Given the description of an element on the screen output the (x, y) to click on. 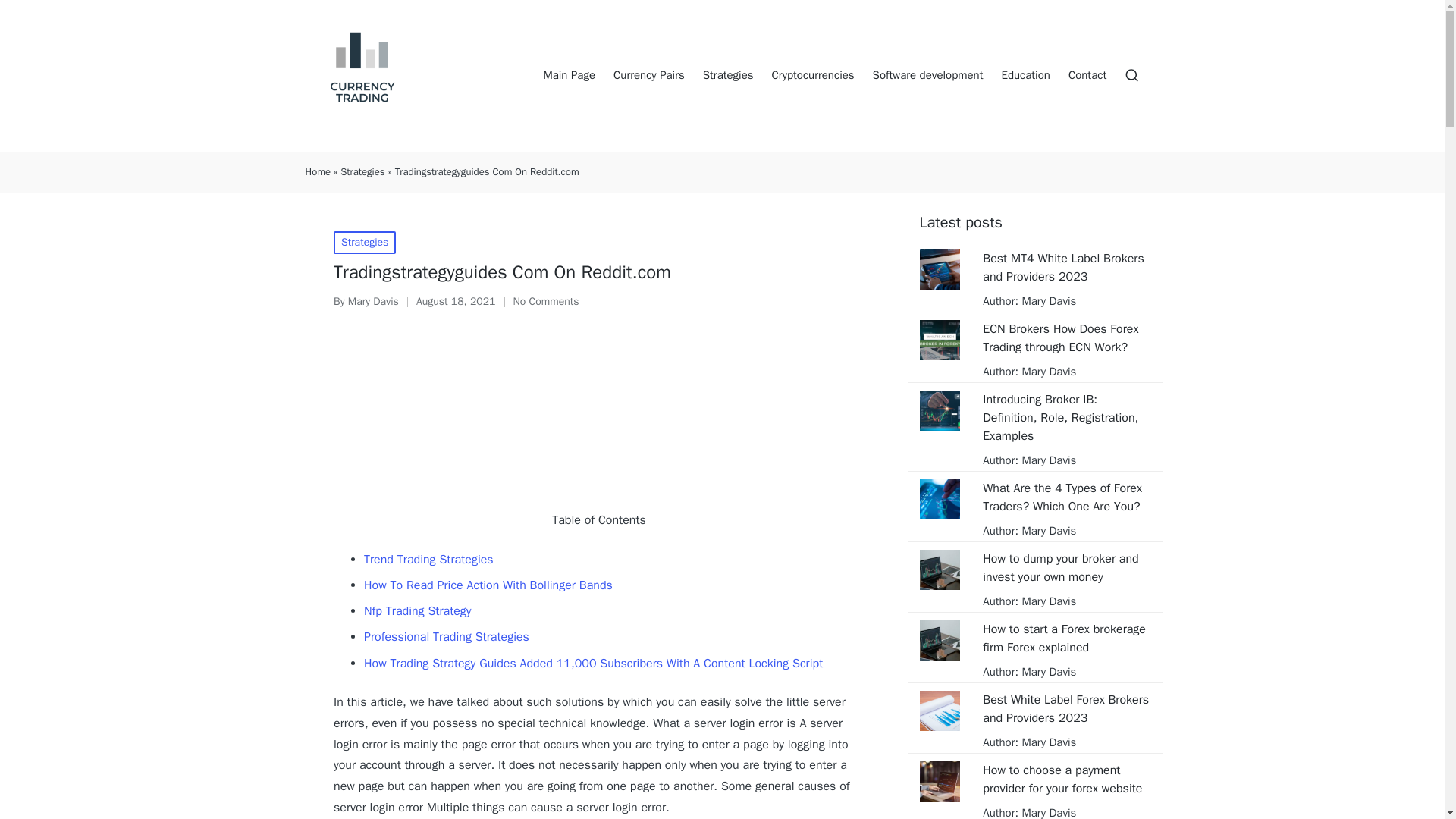
Education (1025, 75)
Mary Davis (1046, 371)
Best MT4 White Label Brokers and Providers 2023 (1066, 267)
Nfp Trading Strategy (417, 611)
Home (317, 171)
Mary Davis (1046, 300)
Professional Trading Strategies (446, 636)
Contact (1087, 75)
Mary Davis (1046, 530)
How To Read Price Action With Bollinger Bands (488, 585)
View all posts by Mary Davis (372, 300)
No Comments (546, 301)
Strategies (362, 171)
